Given the description of an element on the screen output the (x, y) to click on. 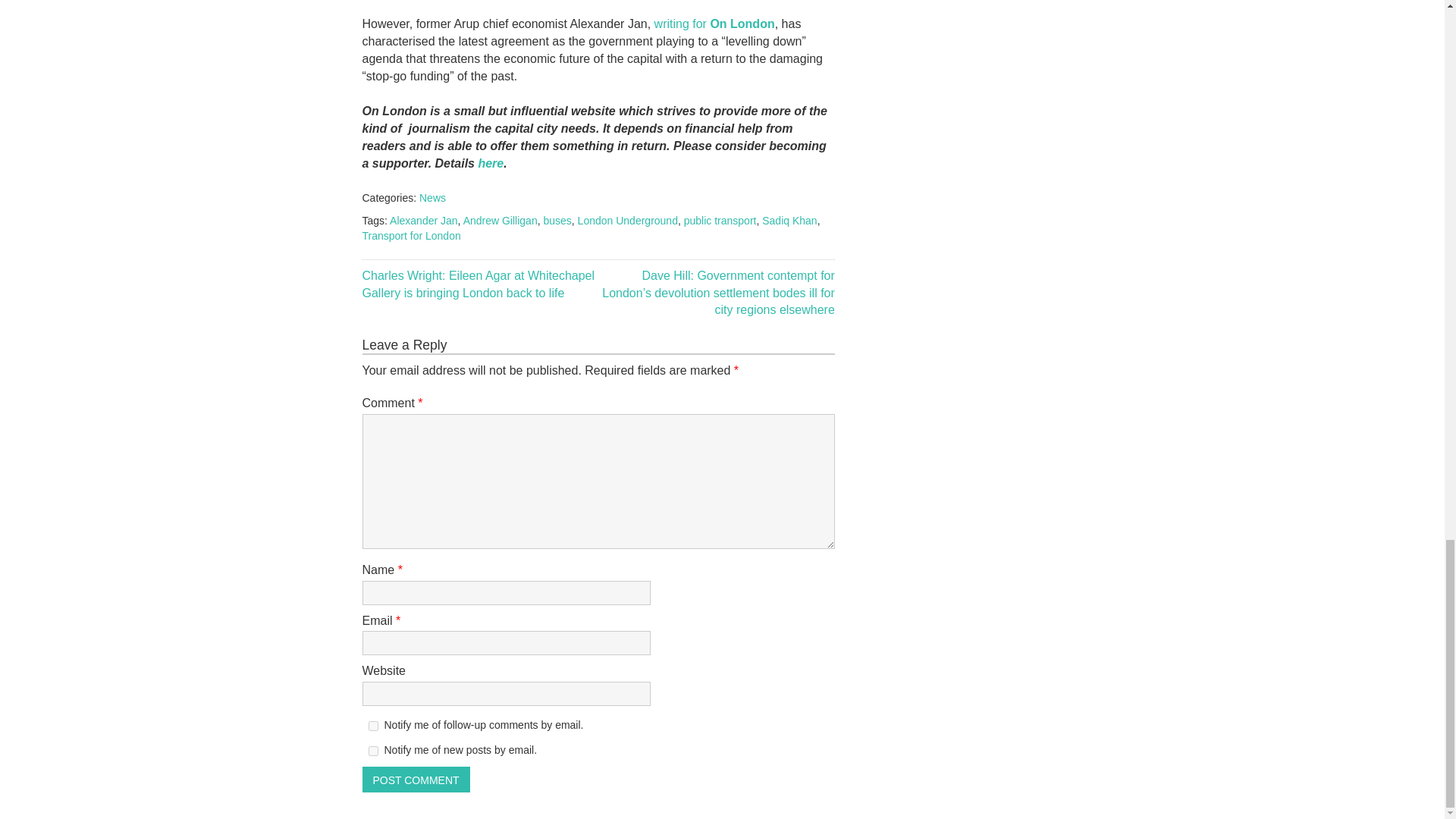
subscribe (373, 750)
Post Comment (416, 779)
subscribe (373, 726)
